Given the description of an element on the screen output the (x, y) to click on. 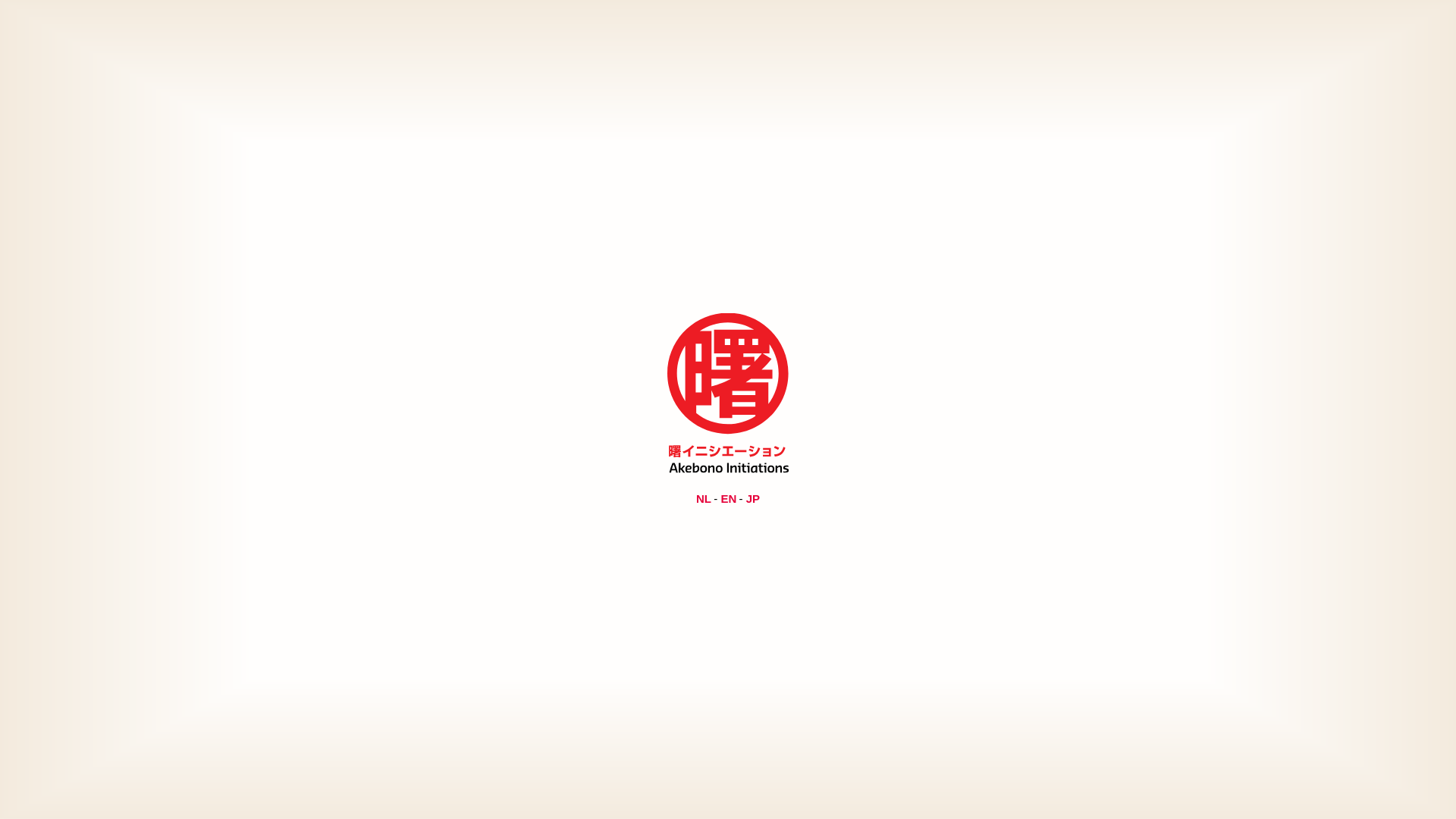
EN Element type: text (728, 497)
NL Element type: text (703, 497)
JP Element type: text (752, 497)
